Given the description of an element on the screen output the (x, y) to click on. 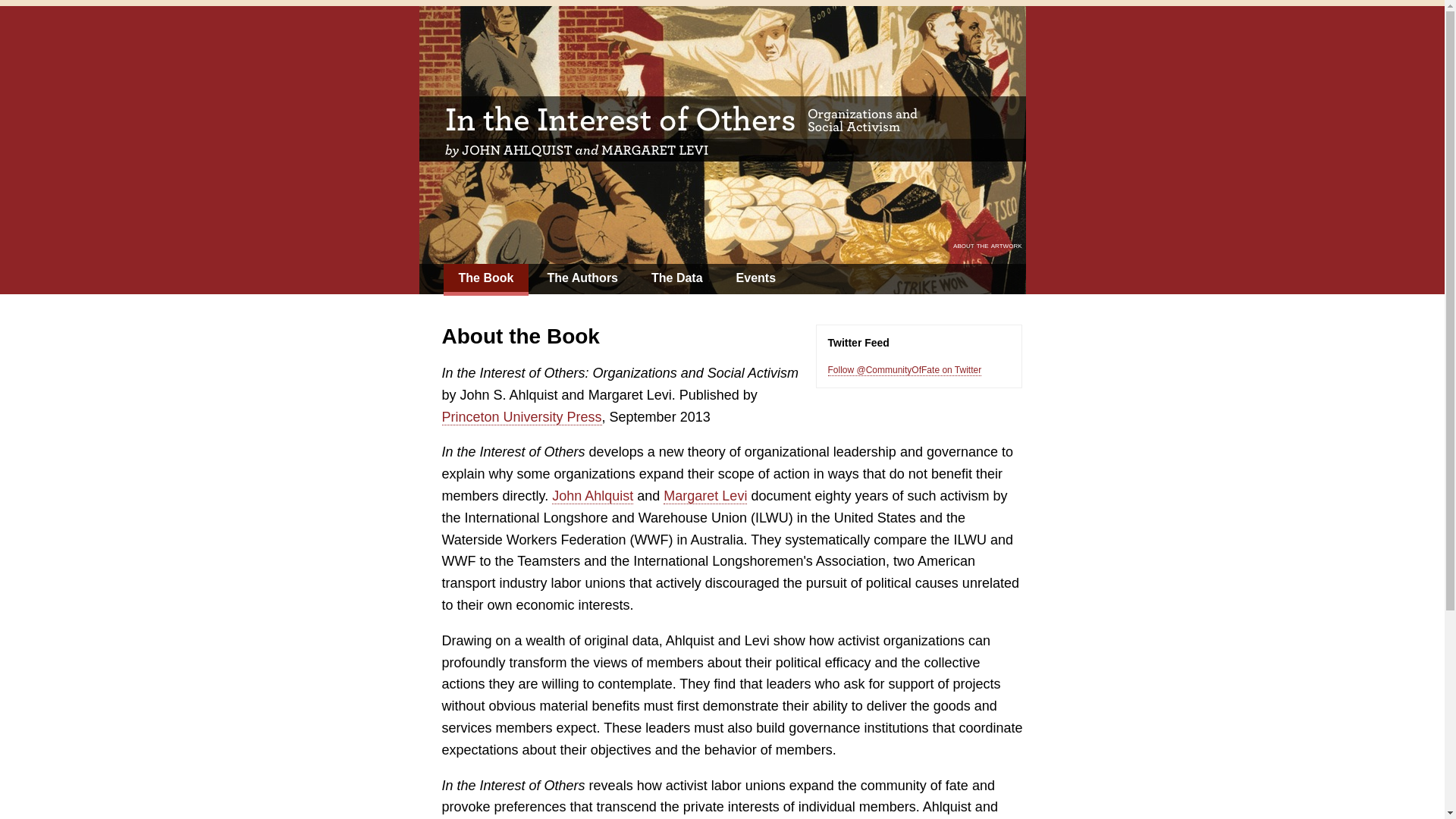
John Ahlquist (592, 496)
The Authors (582, 277)
Princeton University Press (521, 417)
The Data (676, 277)
Margaret Levi (704, 496)
The Book (485, 279)
Events (755, 277)
about the artwork (987, 244)
